Given the description of an element on the screen output the (x, y) to click on. 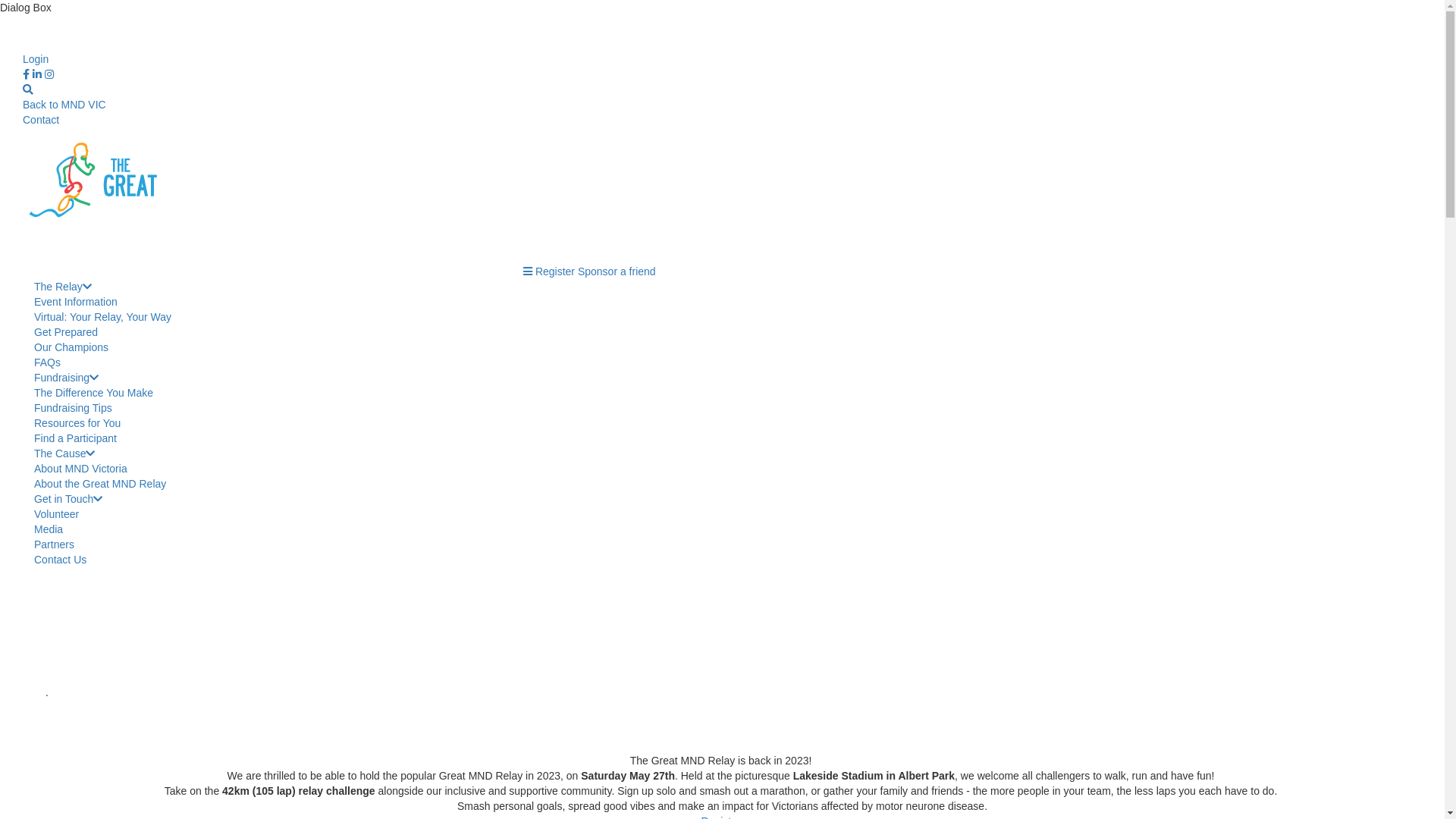
Login Element type: text (35, 59)
FAQs Element type: text (47, 362)
Partners Element type: text (54, 544)
The Difference You Make Element type: text (93, 392)
Volunteer Element type: text (56, 514)
Media Element type: text (48, 529)
The Relay Element type: text (62, 286)
Find a Participant Element type: text (75, 438)
The Cause Element type: text (64, 453)
Event Information Element type: text (75, 301)
Sponsor a friend Element type: text (616, 271)
Resources for You Element type: text (77, 423)
Register Element type: text (554, 271)
Fundraising Tips Element type: text (73, 407)
Contact Us Element type: text (60, 559)
About the Great MND Relay Element type: text (100, 483)
Contact Element type: text (40, 119)
Our Champions Element type: text (71, 347)
Get Prepared Element type: text (65, 332)
Virtual: Your Relay, Your Way Element type: text (102, 316)
Fundraising Element type: text (66, 377)
About MND Victoria Element type: text (80, 468)
Get in Touch Element type: text (68, 498)
Back to MND VIC Element type: text (64, 104)
